Given the description of an element on the screen output the (x, y) to click on. 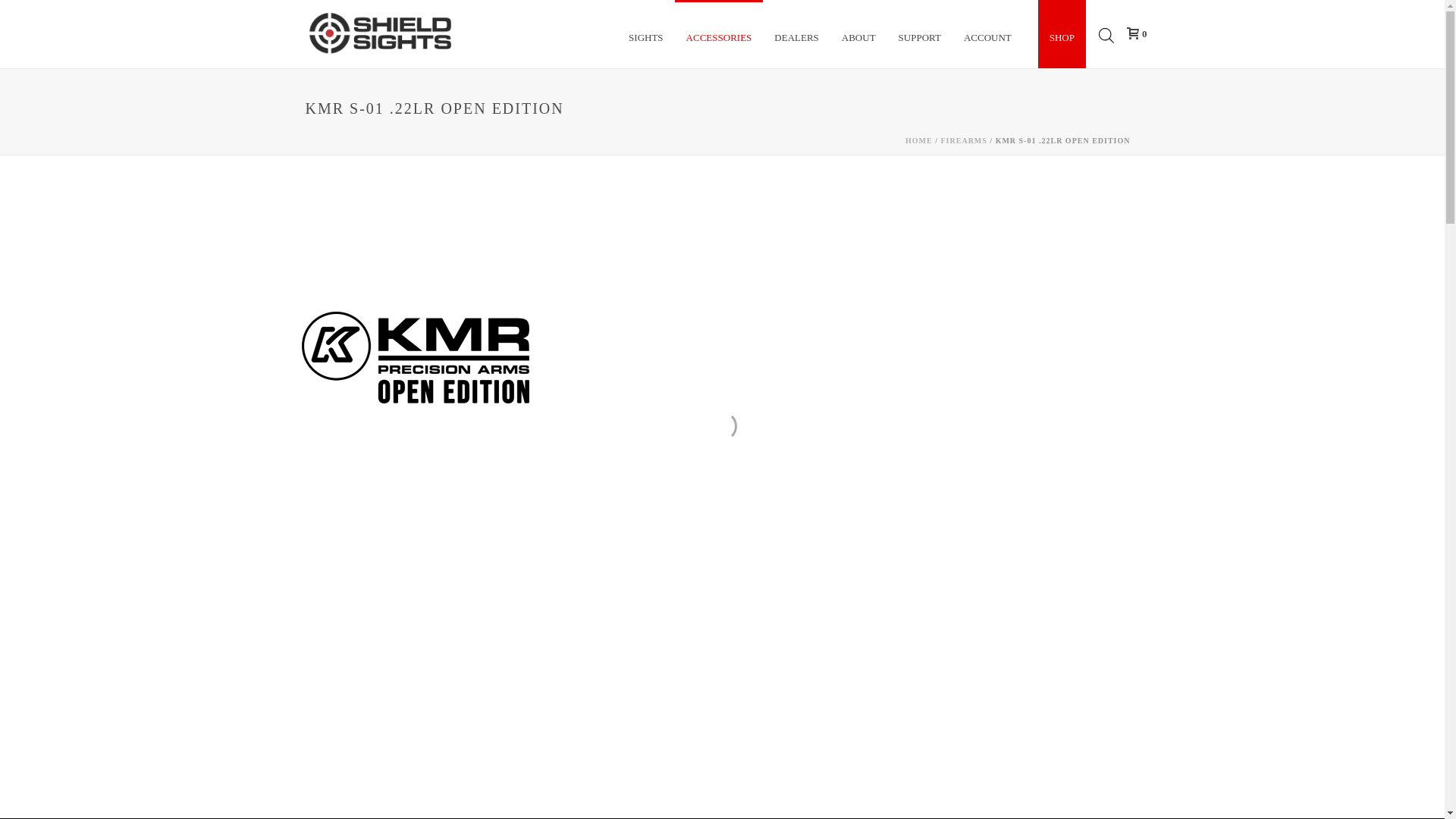
Contact Us (716, 368)
DEALERS (795, 33)
SUPPORT (919, 33)
SUPPORT (919, 33)
ACCOUNT (987, 33)
ACCESSORIES (718, 33)
DEALERS (795, 33)
kmr-logo-open-edition-black (415, 363)
ACCESSORIES (718, 33)
Advanced Red Dots (379, 33)
